Given the description of an element on the screen output the (x, y) to click on. 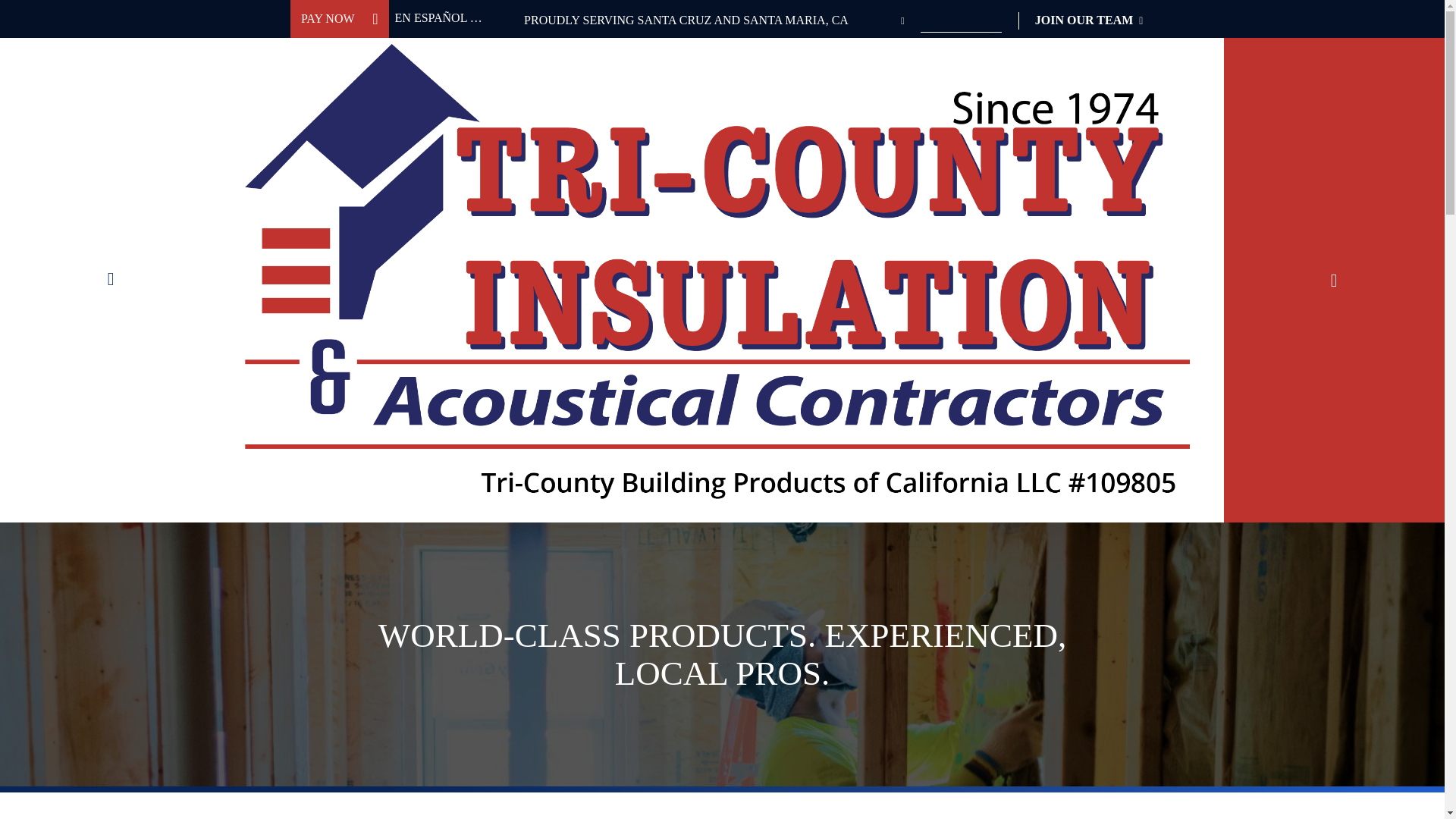
JOIN OUR TEAM (1088, 18)
Spanish (430, 17)
PAY NOW (338, 18)
